Given the description of an element on the screen output the (x, y) to click on. 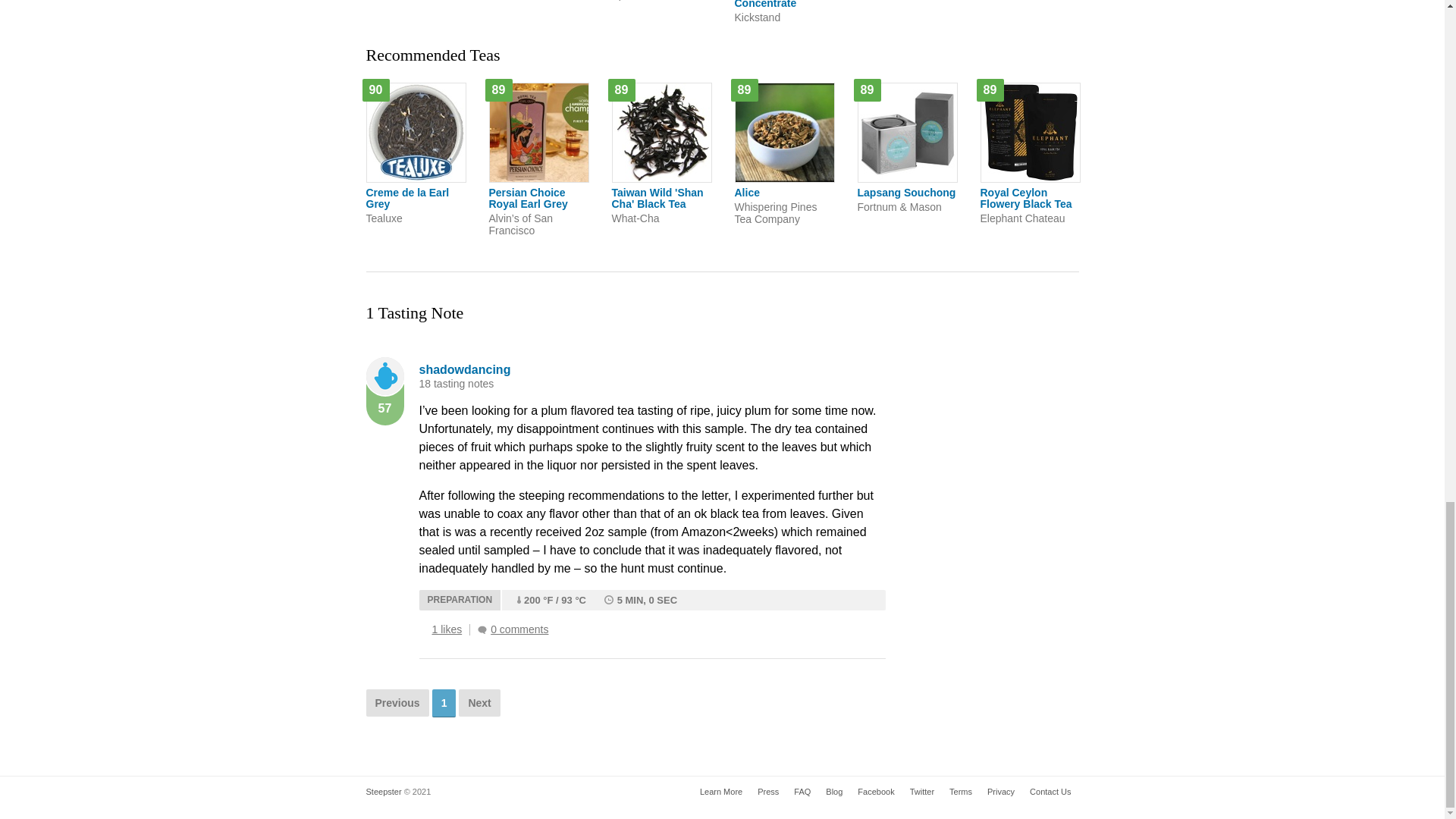
Behind the scenes info on Steepster (767, 791)
Link to Terms of Use (960, 791)
Take a Tour of Steepster (721, 791)
Like This (423, 629)
Link to the Official Steepster Blog (834, 791)
Steepster on Twitter (660, 0)
Link to Privacy Policy (536, 0)
Steepster on Facebook (922, 791)
